Given the description of an element on the screen output the (x, y) to click on. 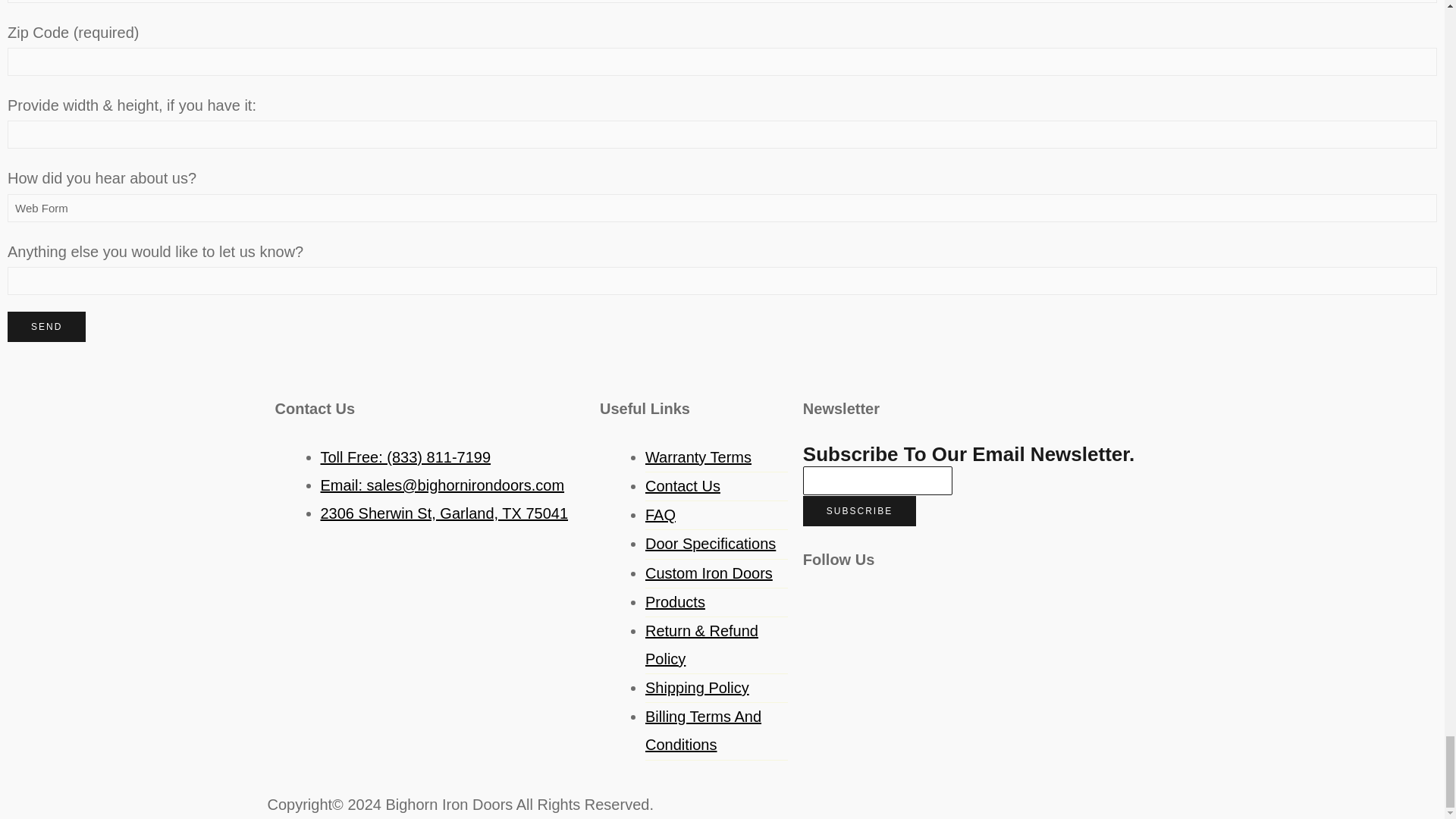
Web Form (722, 207)
Send (46, 327)
Subscribe (859, 511)
